Given the description of an element on the screen output the (x, y) to click on. 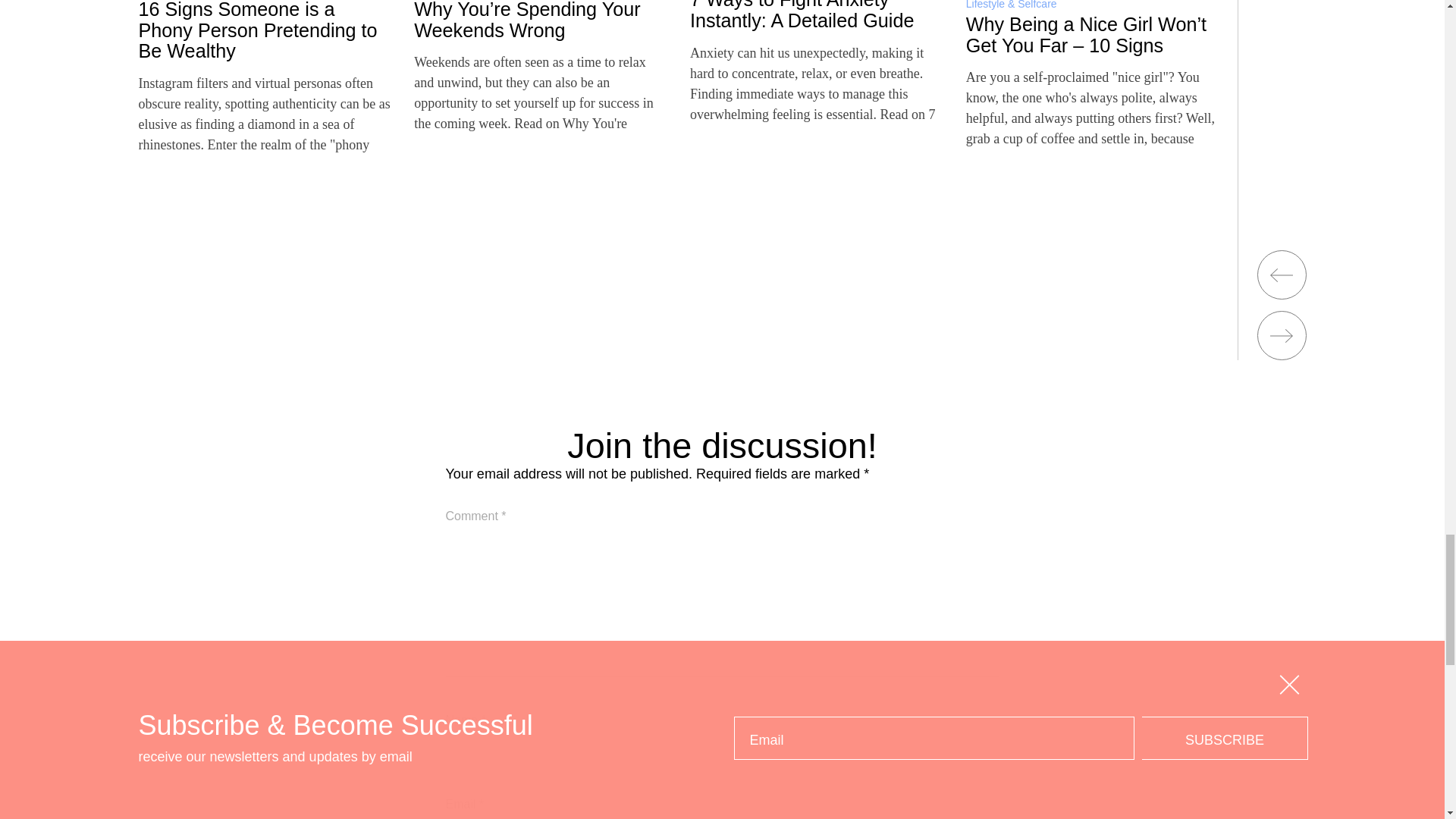
16 Signs Someone is a Phony Person Pretending to Be Wealthy (257, 30)
prev (1281, 274)
7 Ways to Fight Anxiety Instantly: A Detailed Guide (802, 15)
next (1281, 335)
